Given the description of an element on the screen output the (x, y) to click on. 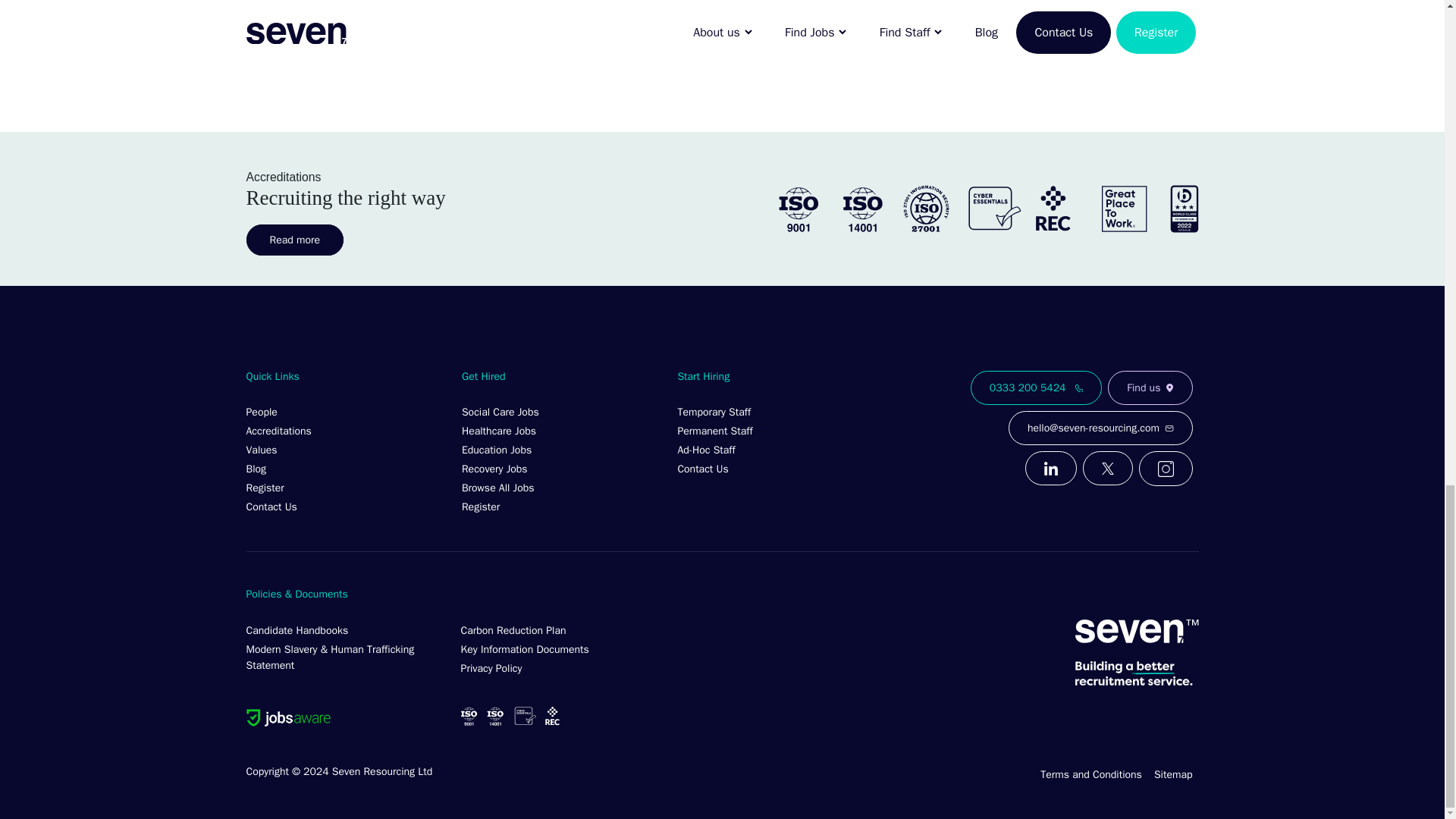
Contact Us (776, 466)
Register (344, 486)
Carbon Reduction Plan (559, 628)
Find us (1150, 387)
People (344, 410)
0333 200 5424 (1036, 387)
Values (344, 447)
Temporary Staff (776, 410)
Read more (294, 239)
Healthcare Jobs (560, 429)
Accreditations (344, 429)
Ad-Hoc Staff (776, 447)
Social Care Jobs (560, 410)
Recovery Jobs (560, 466)
Education Jobs (560, 447)
